Given the description of an element on the screen output the (x, y) to click on. 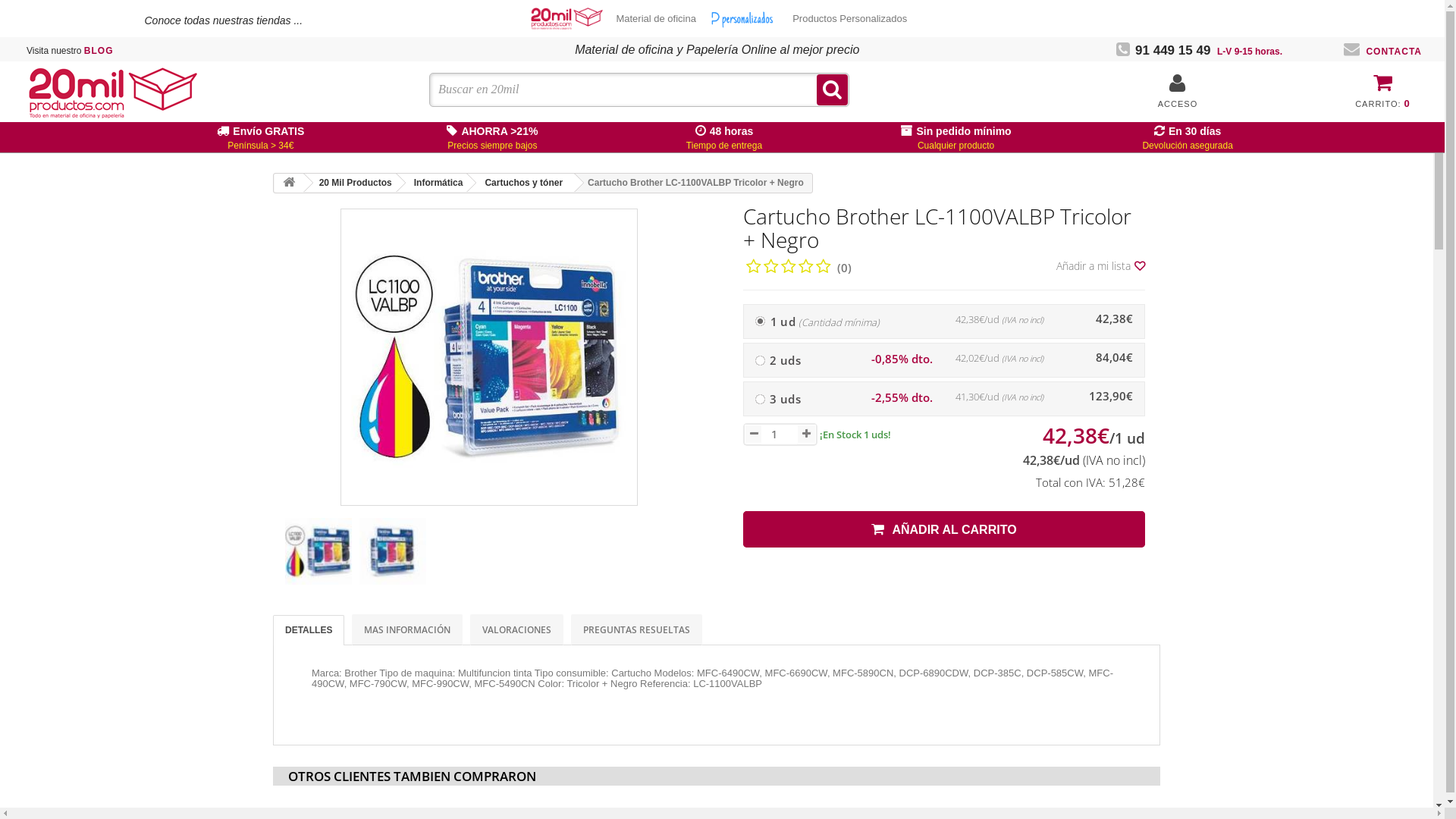
Cartucho Brother LC-1100VALBP Tricolor + Negro Element type: hover (392, 551)
Productos Personalizados Element type: hover (744, 18)
CONTACTA Element type: text (1382, 51)
2 Element type: text (760, 360)
Visita nuestro BLOG Element type: text (69, 50)
Cartucho Brother LC-1100VALBP Tricolor + Negro Element type: hover (318, 551)
20milproductos Element type: hover (567, 18)
DETALLES Element type: text (308, 630)
20milproductos Element type: hover (116, 92)
Volver a Inicio Element type: hover (288, 182)
3 Element type: text (760, 399)
20 Mil Productos Element type: text (352, 182)
Material de oficina Element type: text (655, 18)
VALORACIONES Element type: text (516, 629)
Productos Personalizados Element type: text (849, 18)
PREGUNTAS RESUELTAS Element type: text (636, 629)
Entrar a tu cuenta de cliente Element type: hover (1177, 90)
CARRITO: 0 Element type: text (1382, 89)
ACCESO Element type: text (1177, 103)
Cartucho Brother LC-1100VALBP Tricolor + Negro Element type: hover (488, 356)
1 Element type: text (760, 321)
